Given the description of an element on the screen output the (x, y) to click on. 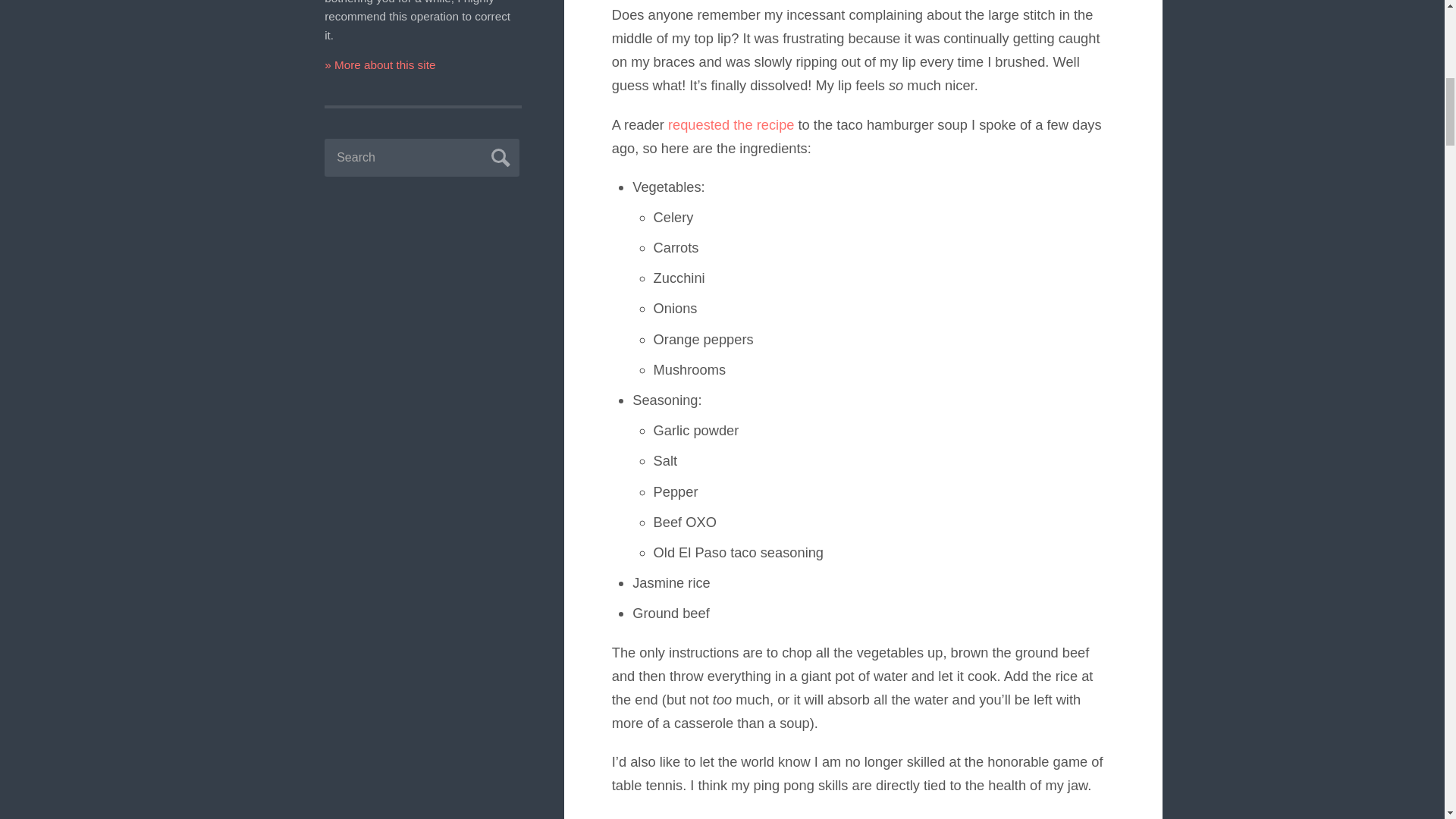
Search (498, 155)
requested the recipe (731, 124)
